Given the description of an element on the screen output the (x, y) to click on. 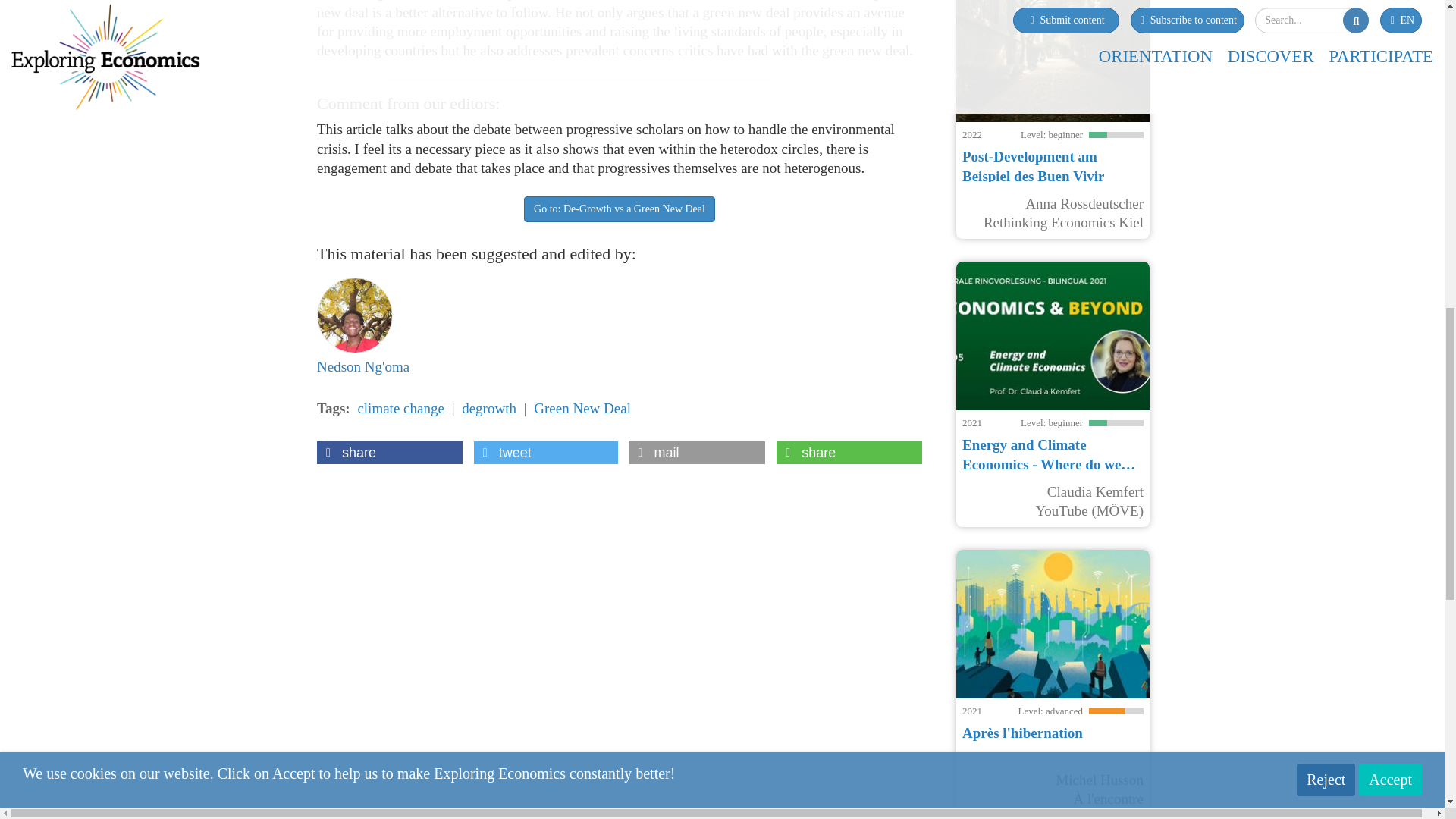
Send by email (696, 452)
Share on Whatsapp (848, 452)
tweet (545, 452)
Go to: De-Growth vs a Green New Deal (619, 208)
Share on Twitter (545, 452)
mail (696, 452)
climate change (400, 408)
share (390, 452)
Green New Deal (582, 408)
degrowth (488, 408)
Share on Facebook (390, 452)
